Given the description of an element on the screen output the (x, y) to click on. 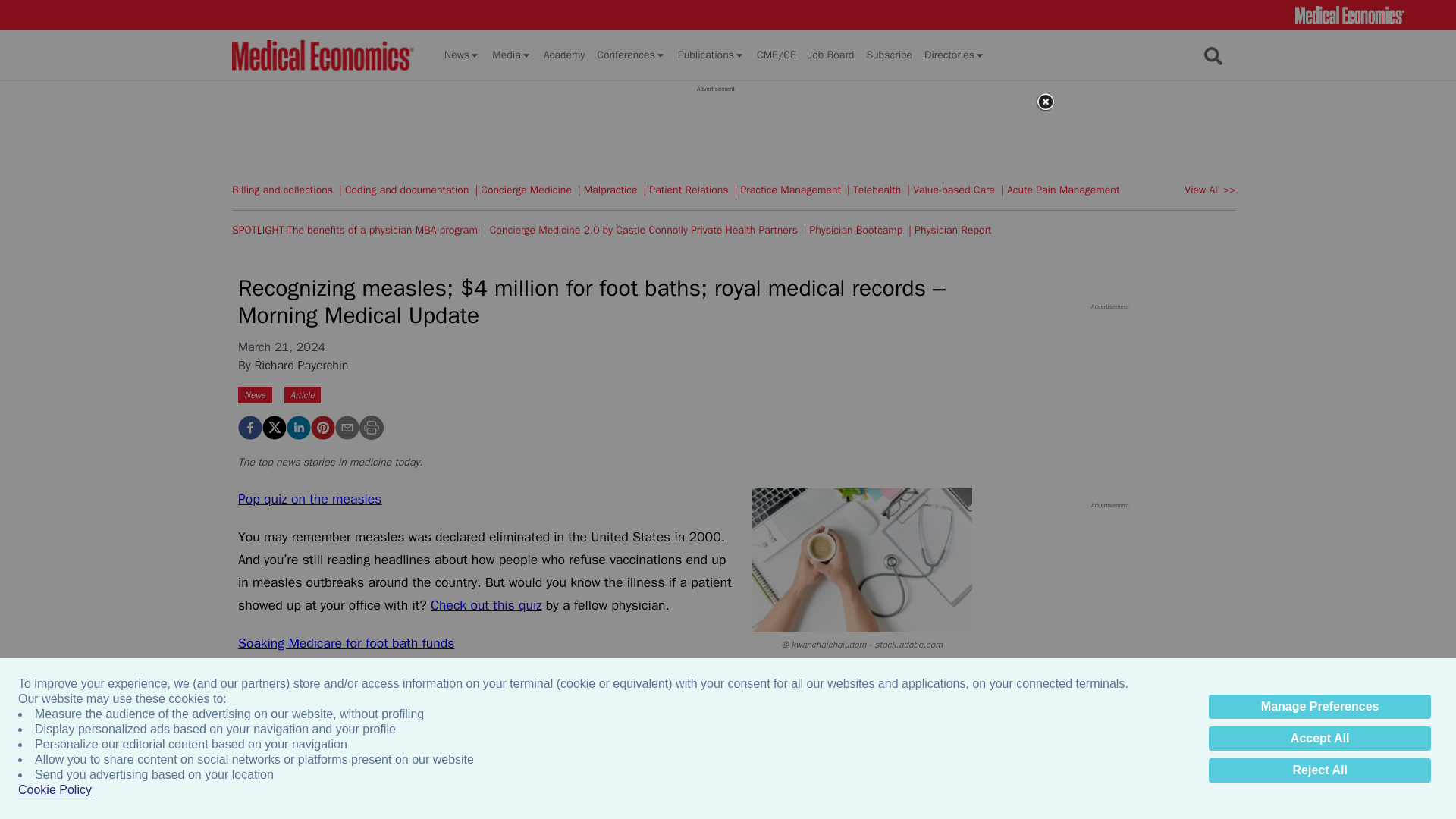
Manage Preferences (1319, 706)
Cookie Policy (54, 789)
Academy (564, 54)
3rd party ad content (715, 127)
Reject All (1319, 769)
Accept All (1319, 738)
